Given the description of an element on the screen output the (x, y) to click on. 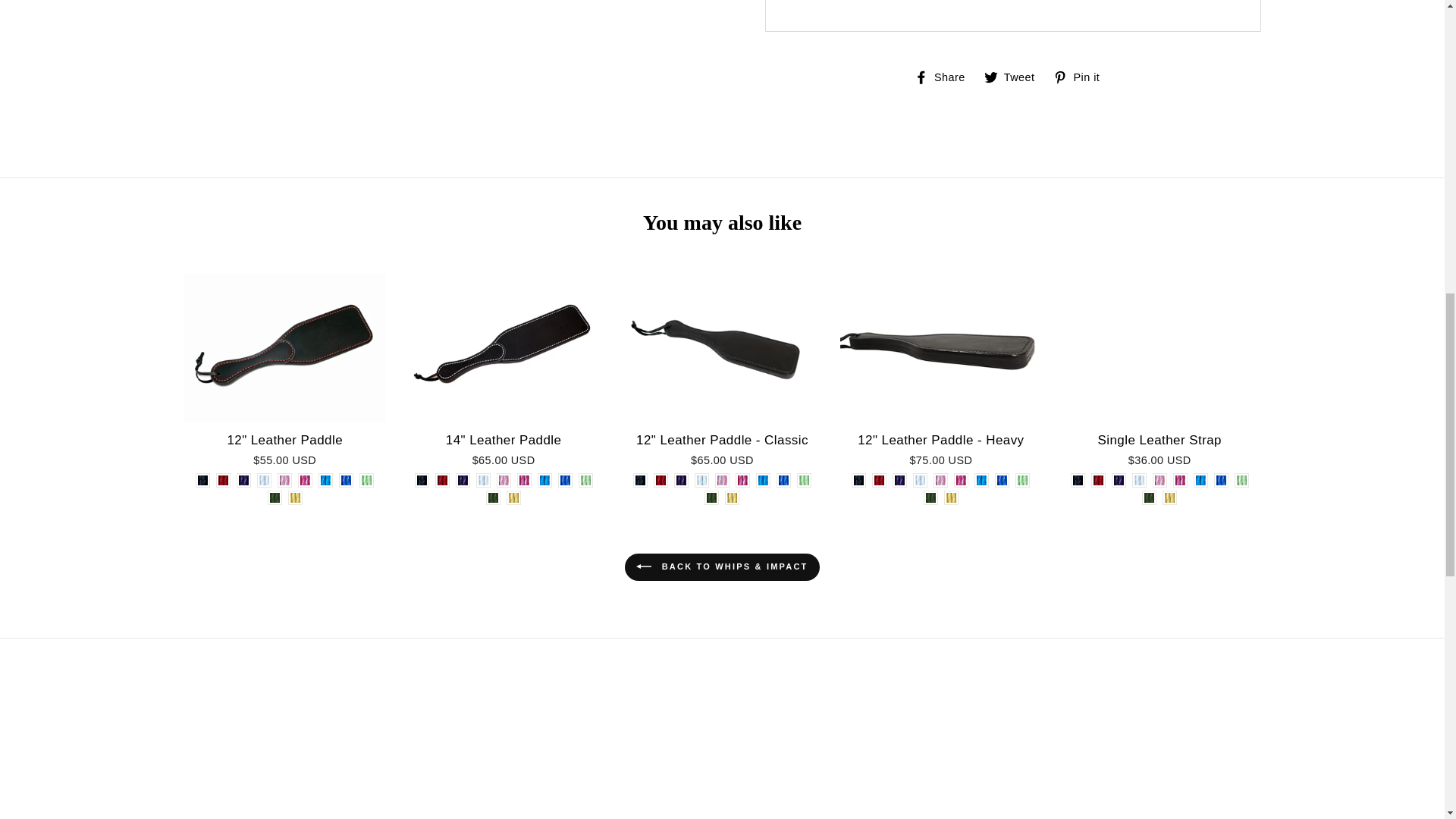
Share on Facebook (945, 76)
Tweet on Twitter (1015, 76)
Pin on Pinterest (1081, 76)
